Given the description of an element on the screen output the (x, y) to click on. 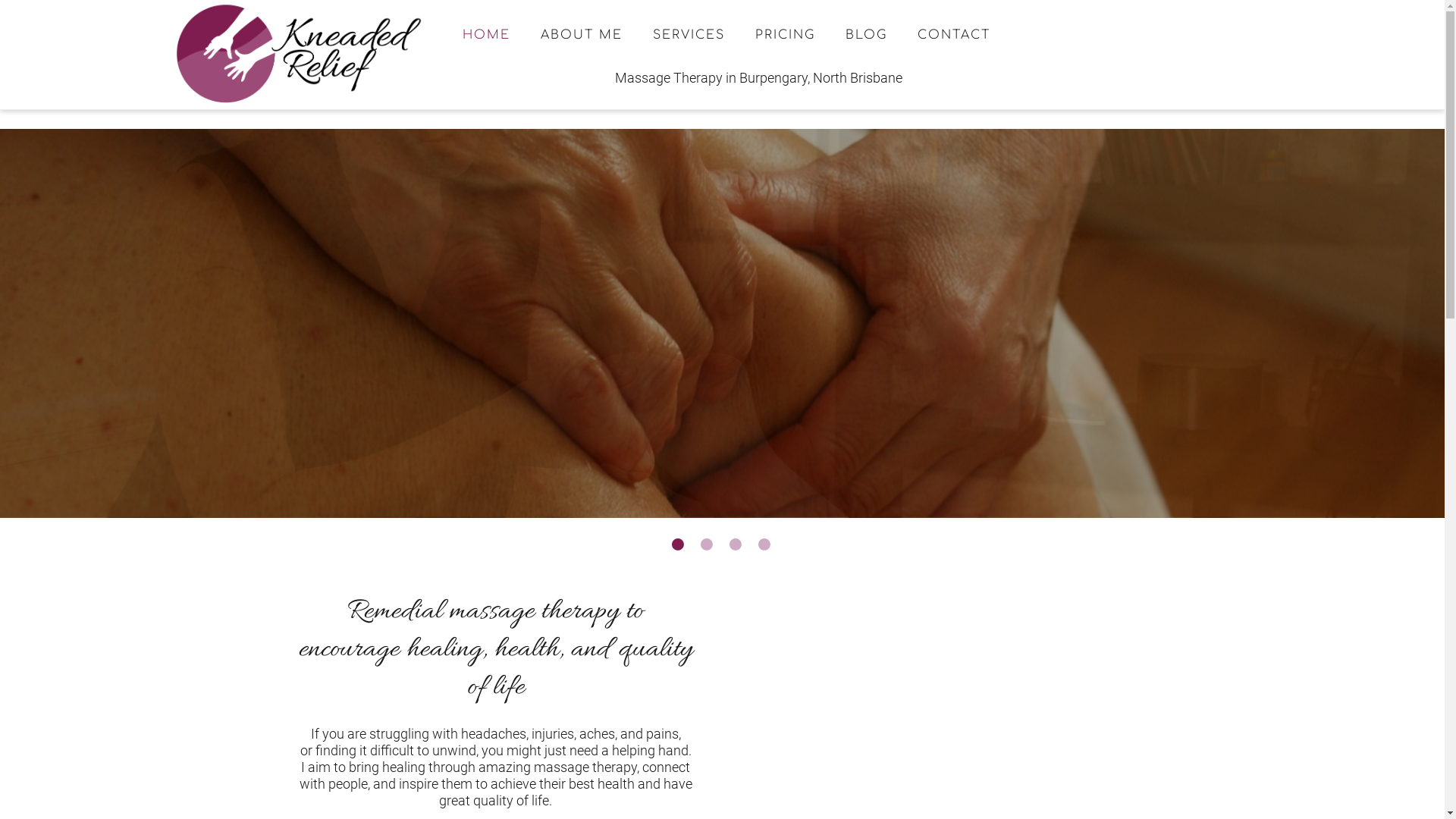
PRICING Element type: text (784, 34)
ABOUT ME Element type: text (581, 34)
CONTACT Element type: text (953, 34)
SERVICES Element type: text (688, 34)
HOME Element type: text (486, 34)
BLOG Element type: text (866, 34)
